Given the description of an element on the screen output the (x, y) to click on. 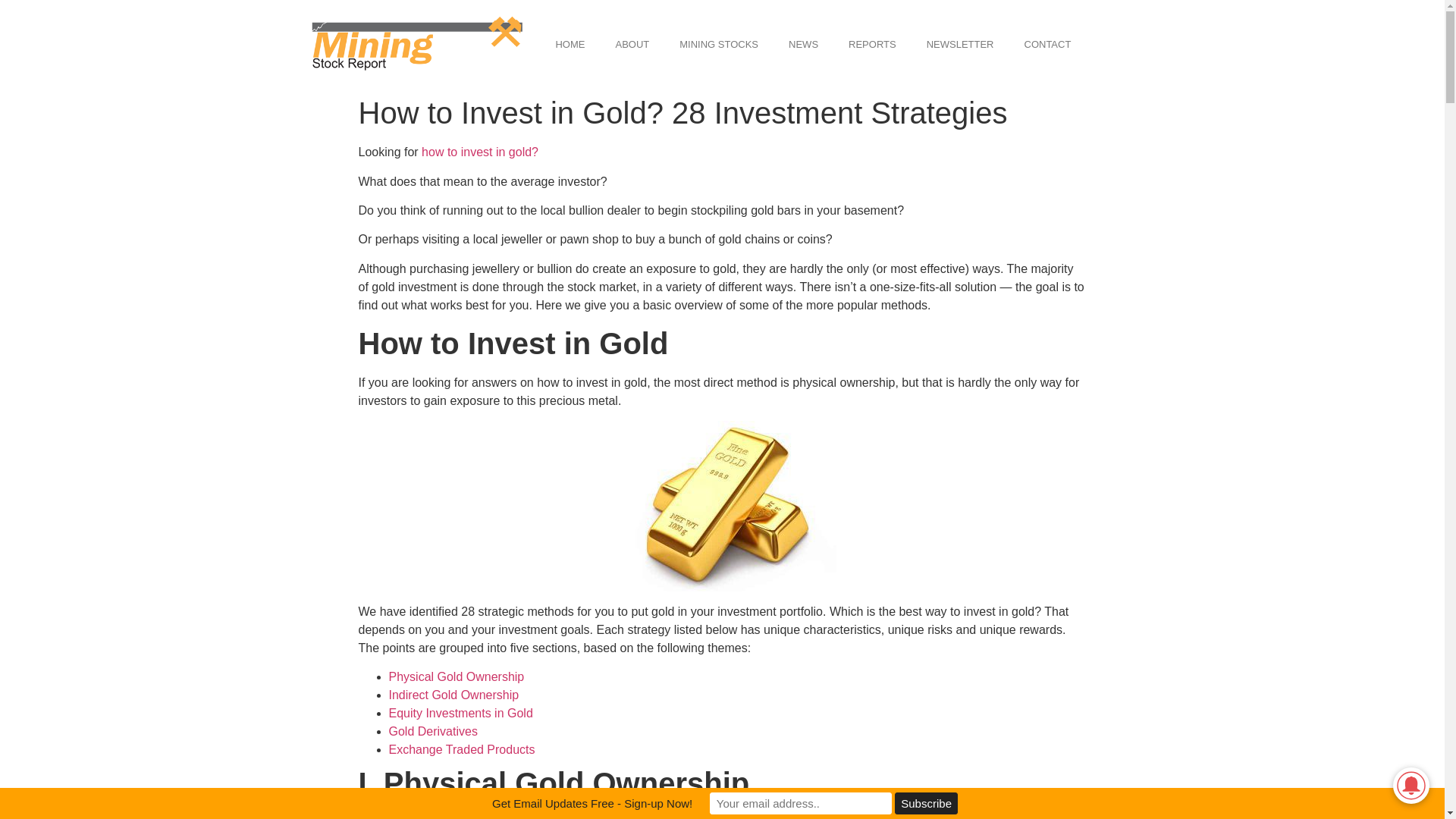
CONTACT (1047, 44)
NEWSLETTER (960, 44)
REPORTS (871, 44)
Exchange Traded Products (461, 748)
NEWS (802, 44)
Gold Derivatives (432, 730)
ABOUT (631, 44)
Equity Investments in Gold (460, 712)
HOME (569, 44)
Subscribe (926, 803)
MINING STOCKS (718, 44)
Indirect Gold Ownership (453, 694)
Physical Gold Ownership (456, 676)
how to invest in gold? (480, 151)
